Given the description of an element on the screen output the (x, y) to click on. 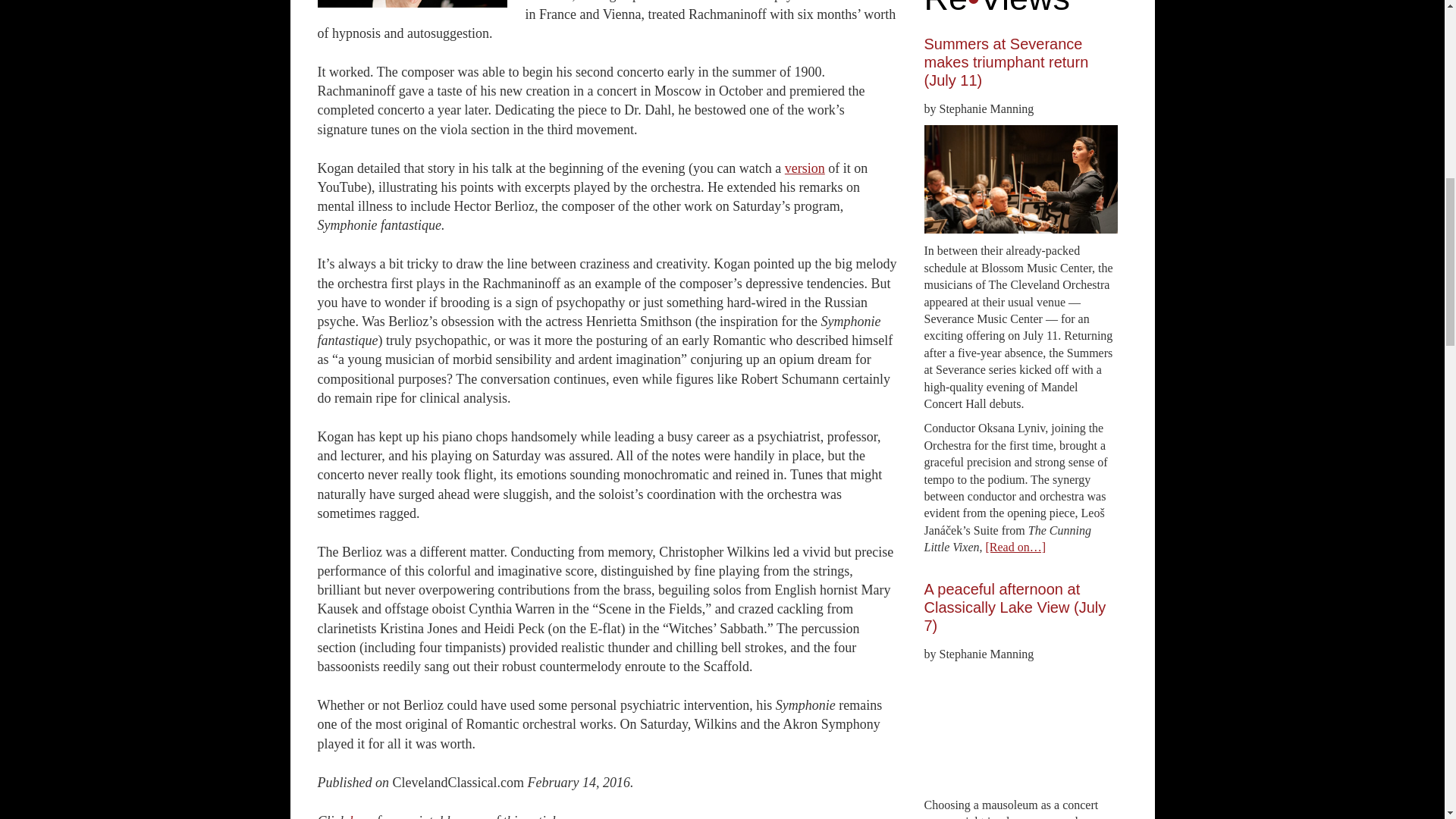
version (804, 168)
here (360, 816)
